Given the description of an element on the screen output the (x, y) to click on. 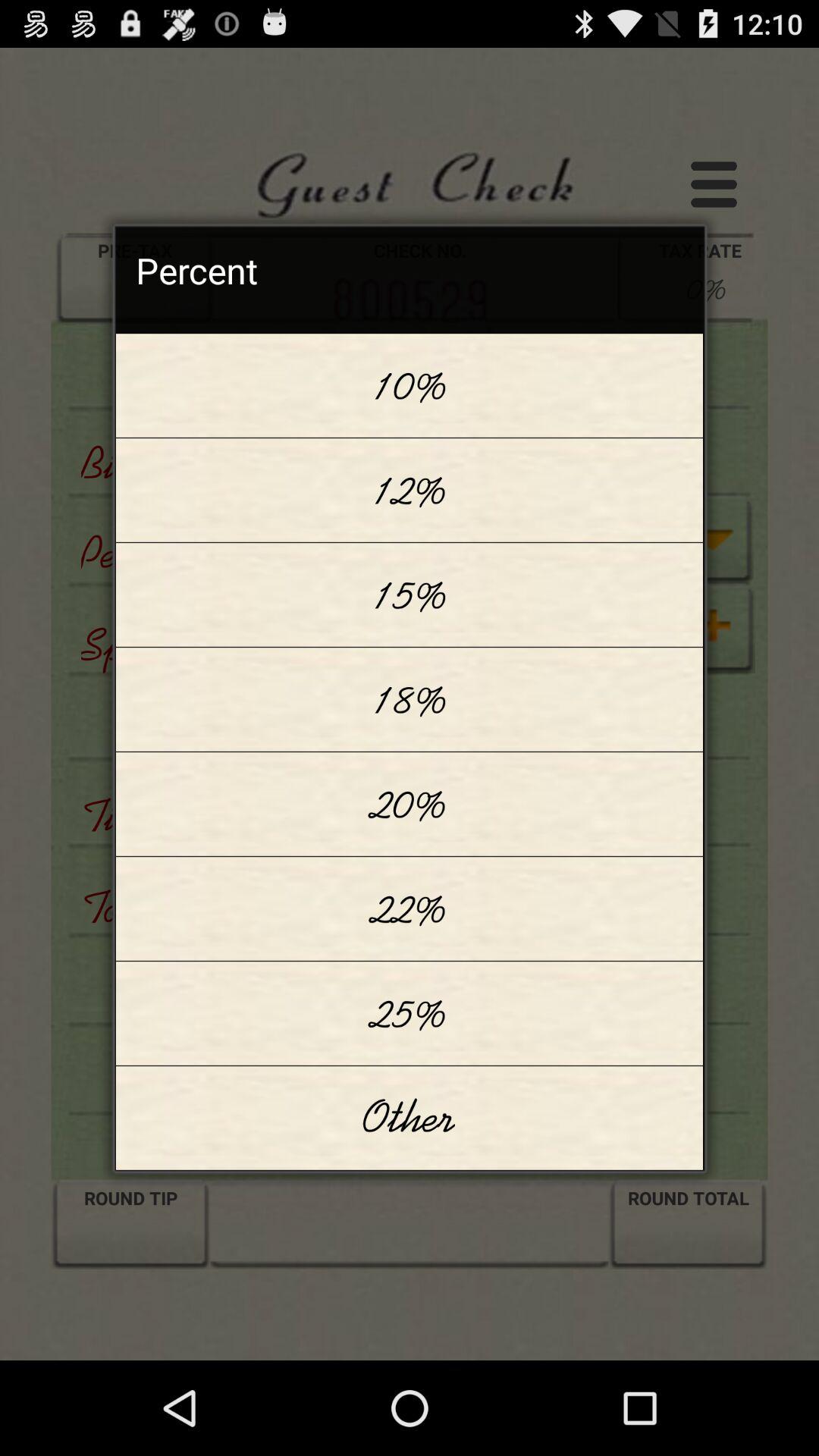
flip until 12% icon (409, 489)
